Given the description of an element on the screen output the (x, y) to click on. 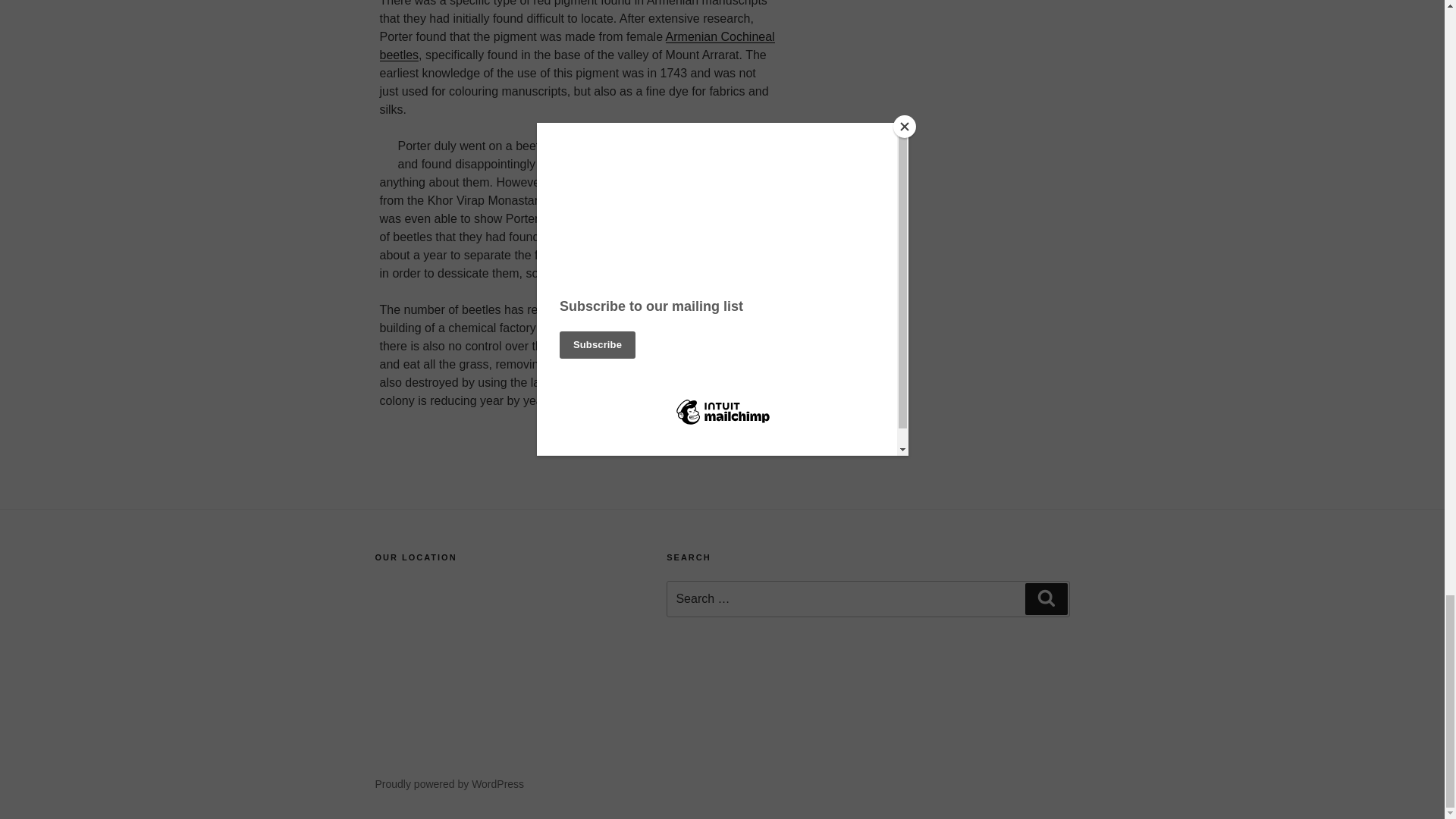
Armenian Cochineal beetles (576, 45)
